Given the description of an element on the screen output the (x, y) to click on. 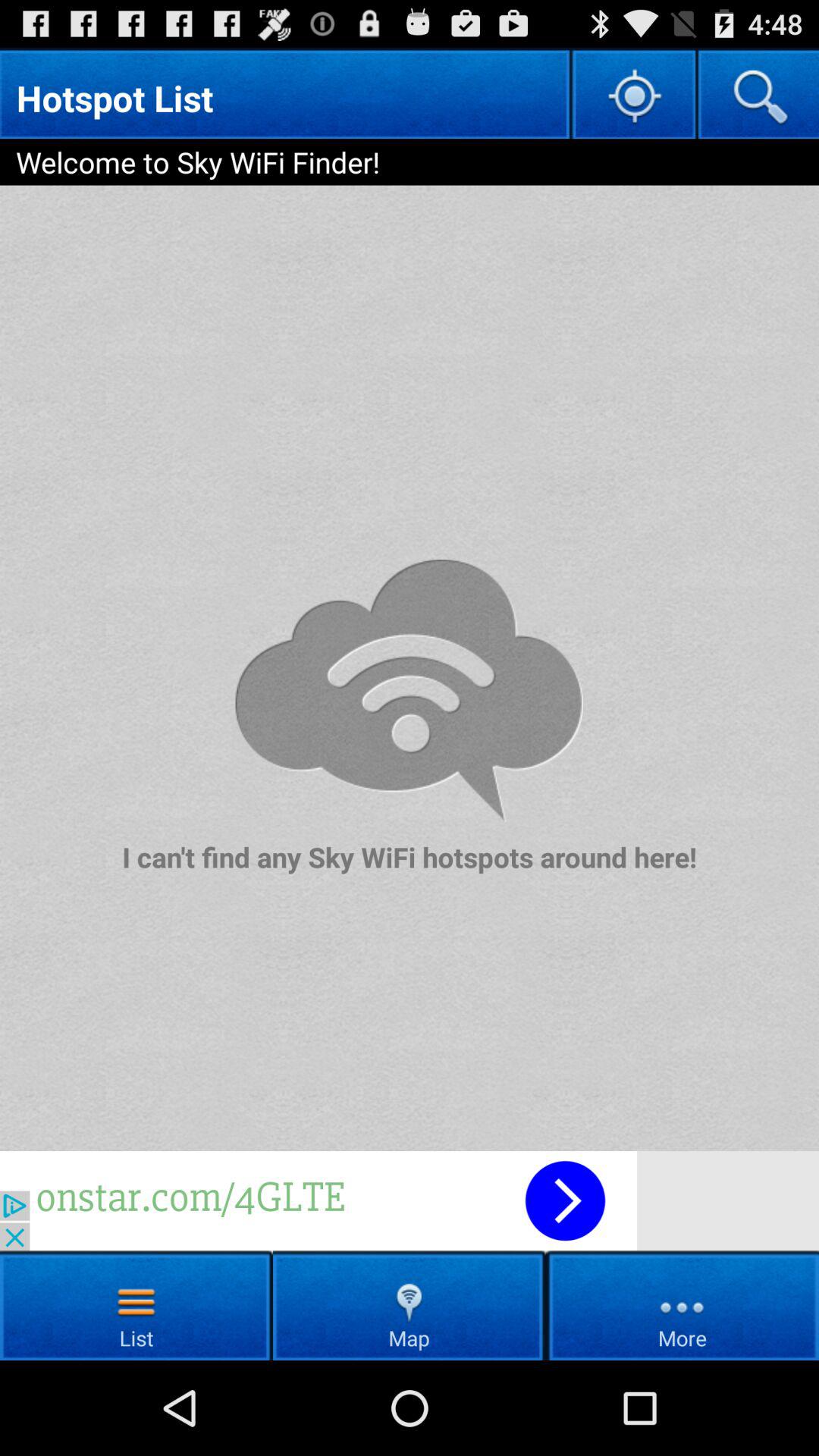
go back option (409, 1200)
